Given the description of an element on the screen output the (x, y) to click on. 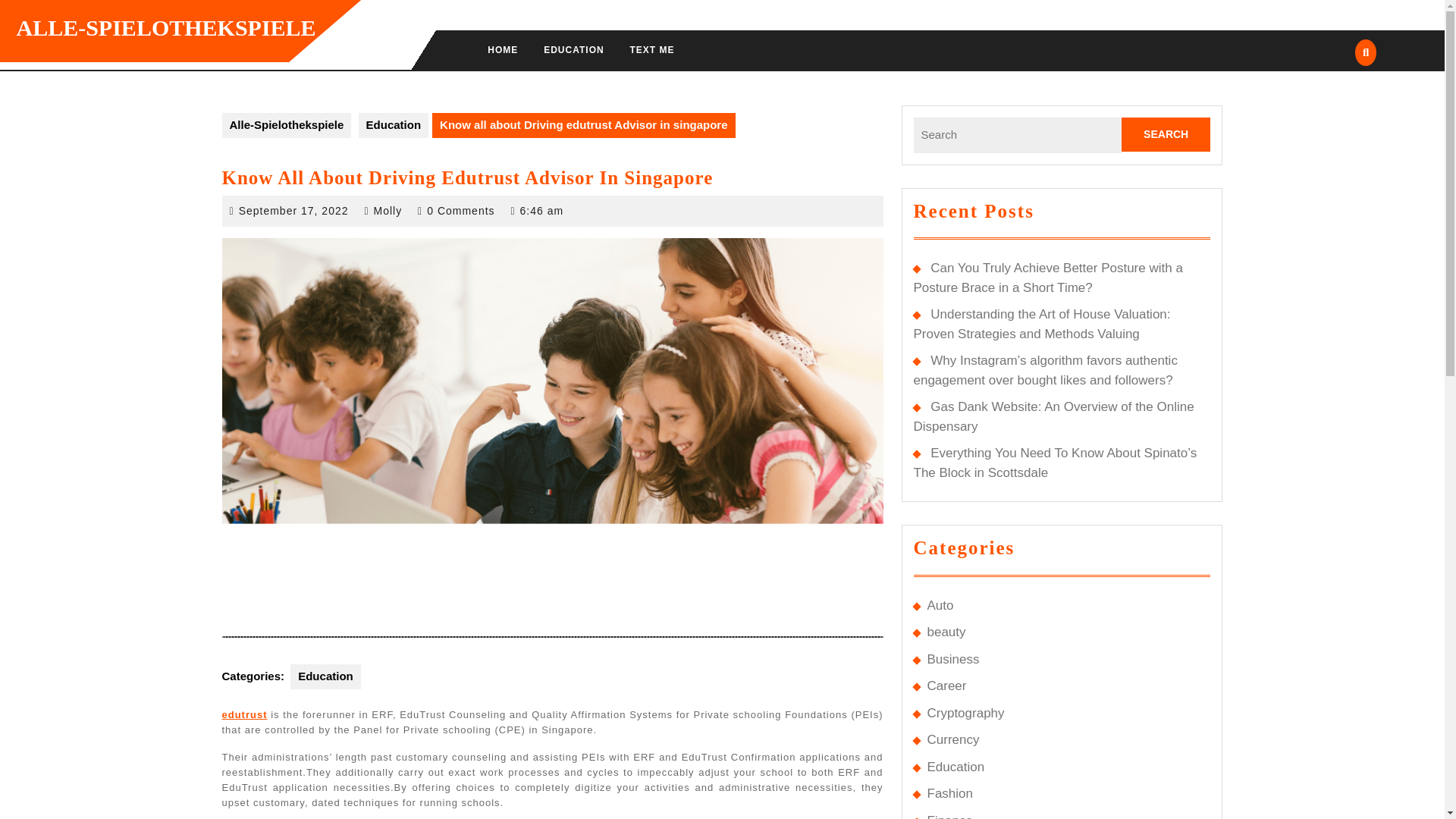
Cryptography (965, 712)
Education (325, 676)
Education (393, 125)
Search (1166, 134)
Auto (939, 605)
EDUCATION (573, 49)
HOME (502, 49)
Career (946, 685)
Molly (388, 210)
Currency (952, 739)
